Given the description of an element on the screen output the (x, y) to click on. 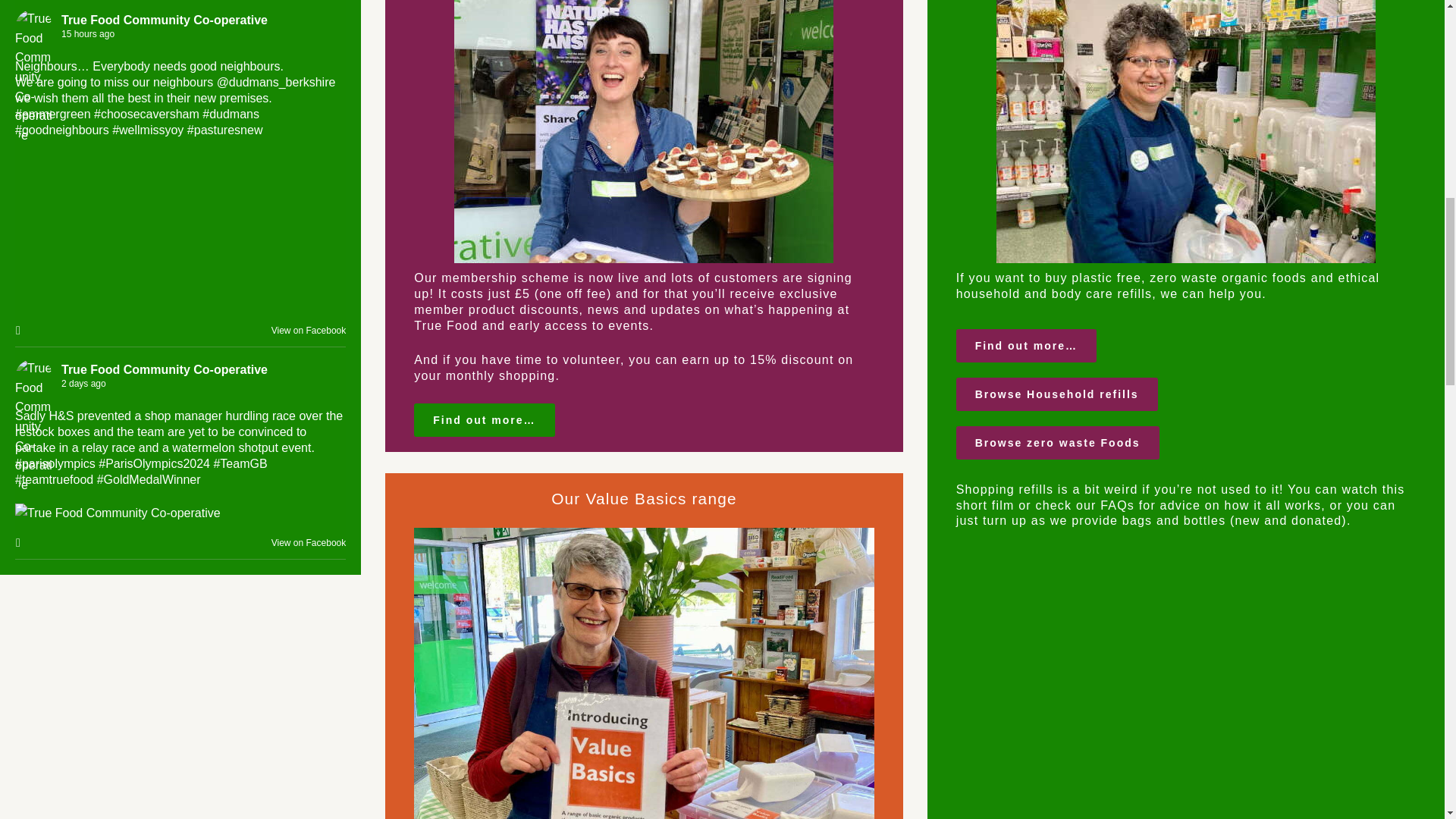
Social Share Options (20, 543)
Social Share Options (20, 330)
Picture from Facebook (262, 225)
Picture from Facebook (97, 225)
